Given the description of an element on the screen output the (x, y) to click on. 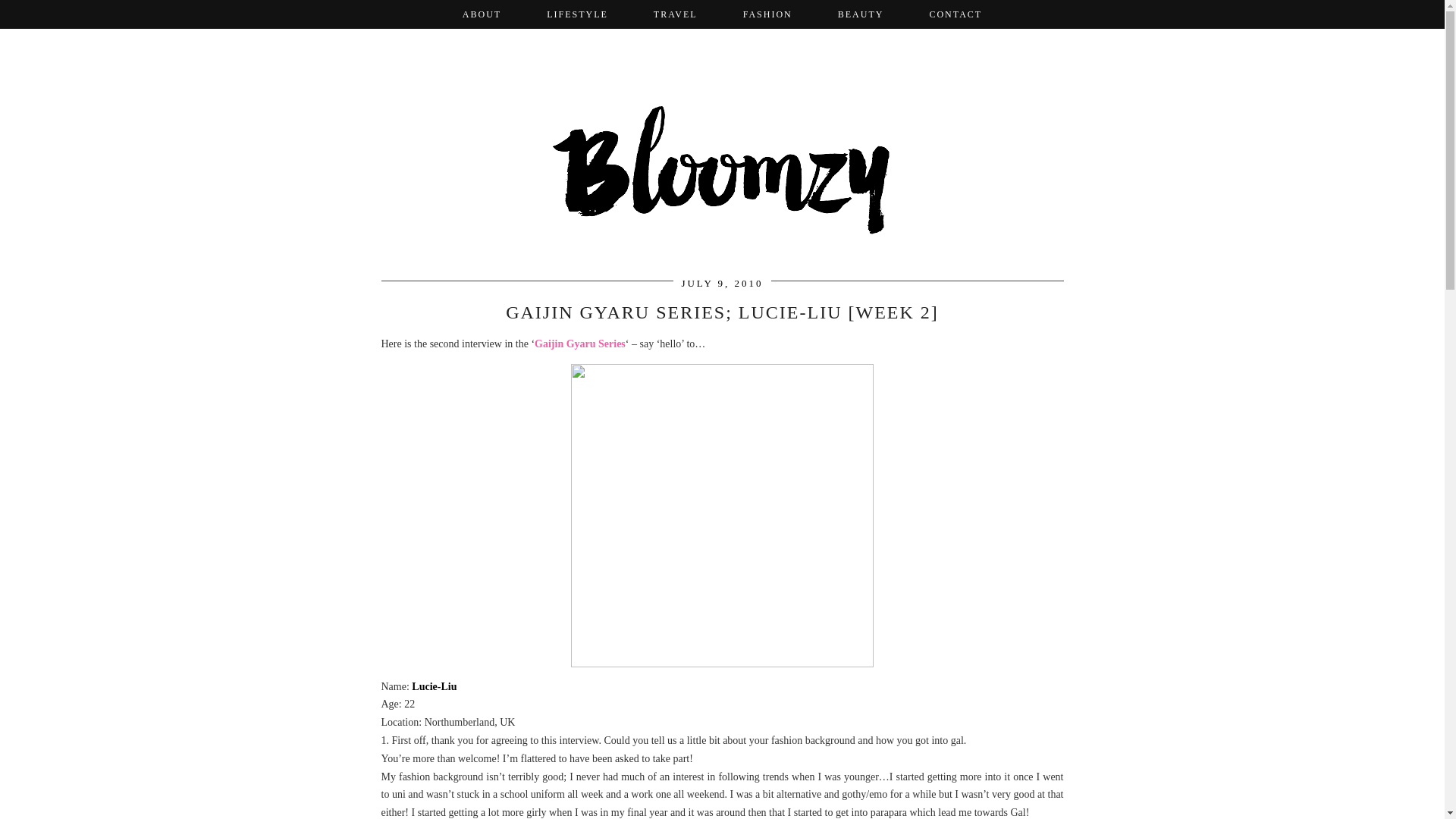
TRAVEL (675, 14)
Bloomzy (721, 155)
BEAUTY (861, 14)
FASHION (767, 14)
ABOUT (481, 14)
Lucie-Liu (434, 686)
Gaijin Gyaru Series (580, 343)
LIFESTYLE (577, 14)
CONTACT (954, 14)
